Given the description of an element on the screen output the (x, y) to click on. 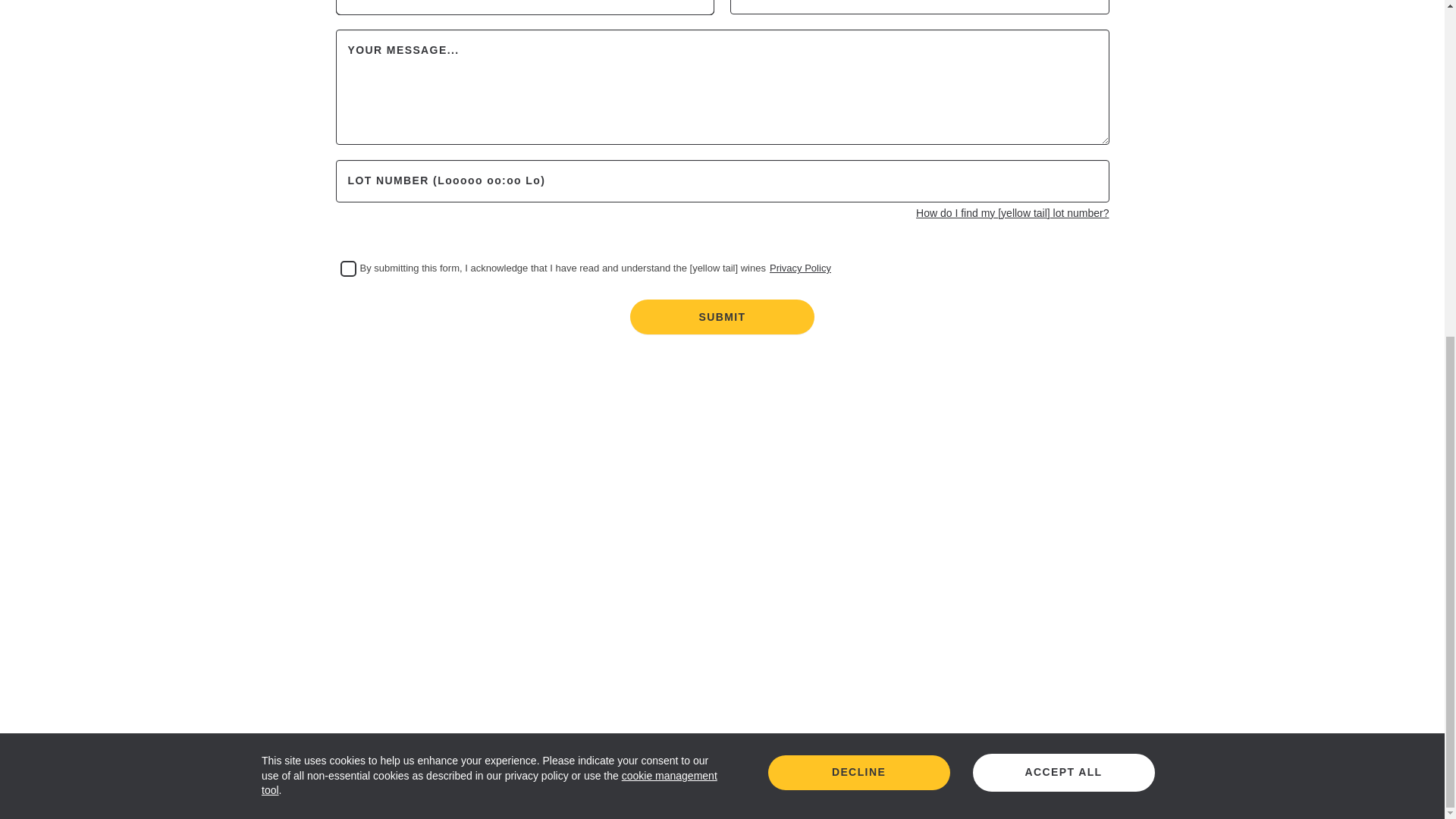
ACCEPT ALL (1063, 207)
Privacy Policy (800, 268)
DECLINE (858, 206)
COUNTRY (524, 6)
cookie management tool (489, 216)
SUBMIT (721, 316)
